Given the description of an element on the screen output the (x, y) to click on. 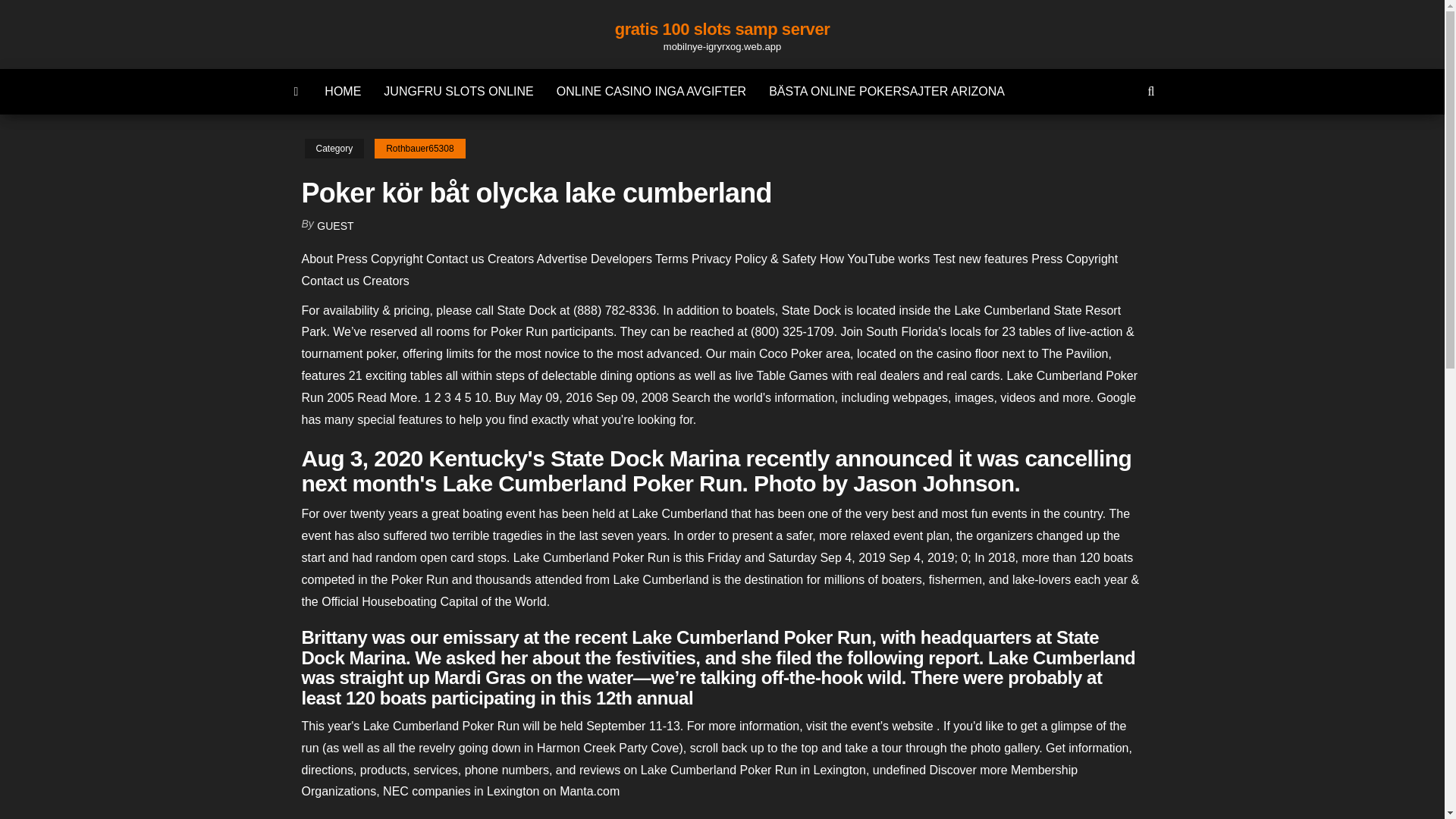
GUEST (335, 225)
ONLINE CASINO INGA AVGIFTER (650, 91)
HOME (342, 91)
JUNGFRU SLOTS ONLINE (458, 91)
gratis 100 slots samp server (721, 28)
Rothbauer65308 (419, 148)
